Given the description of an element on the screen output the (x, y) to click on. 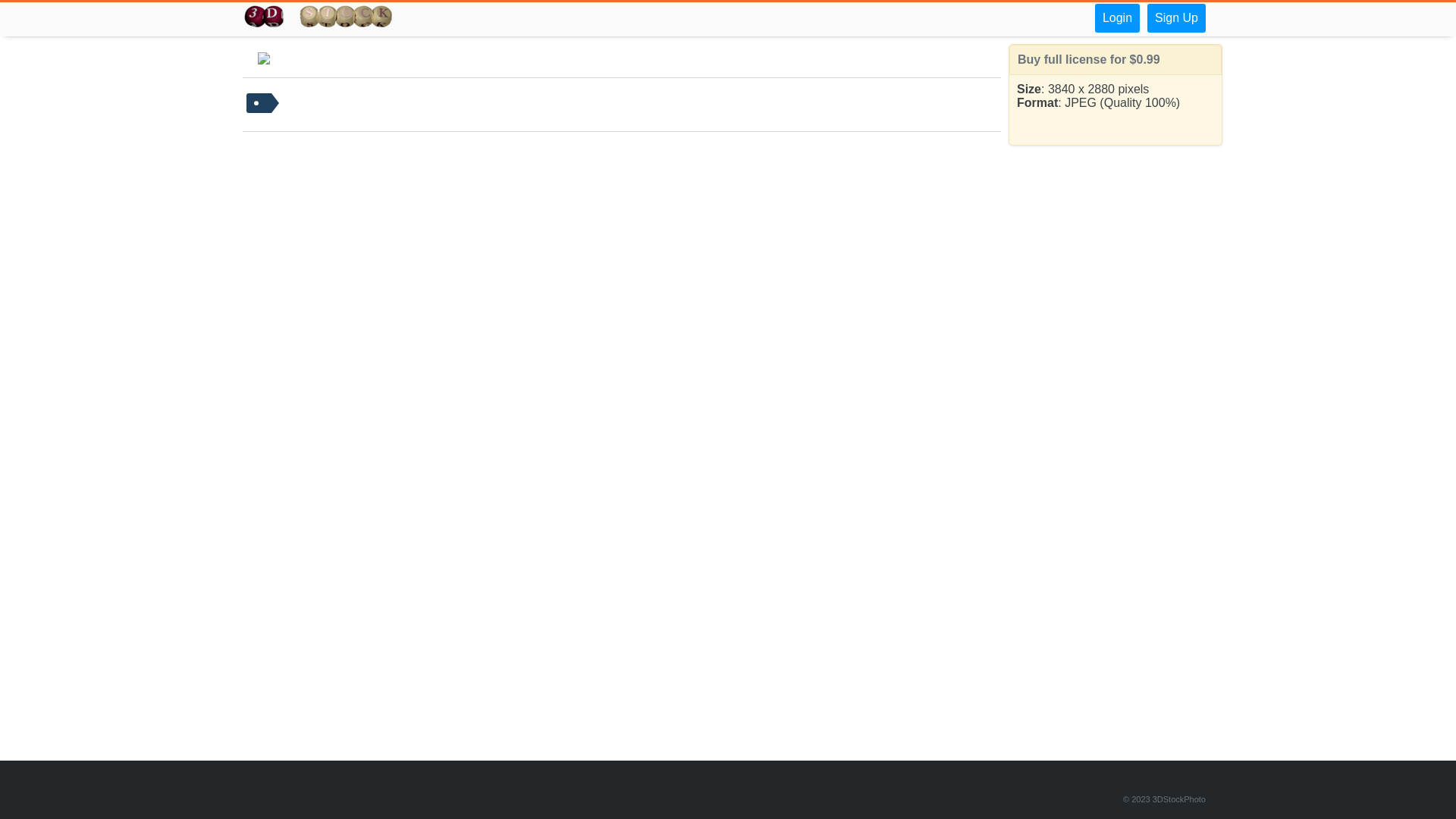
Login Element type: text (1117, 17)
$1 3D stock photos of texts, icons, and backgrounds Element type: hover (318, 18)
Sign Up Element type: text (1176, 17)
